Given the description of an element on the screen output the (x, y) to click on. 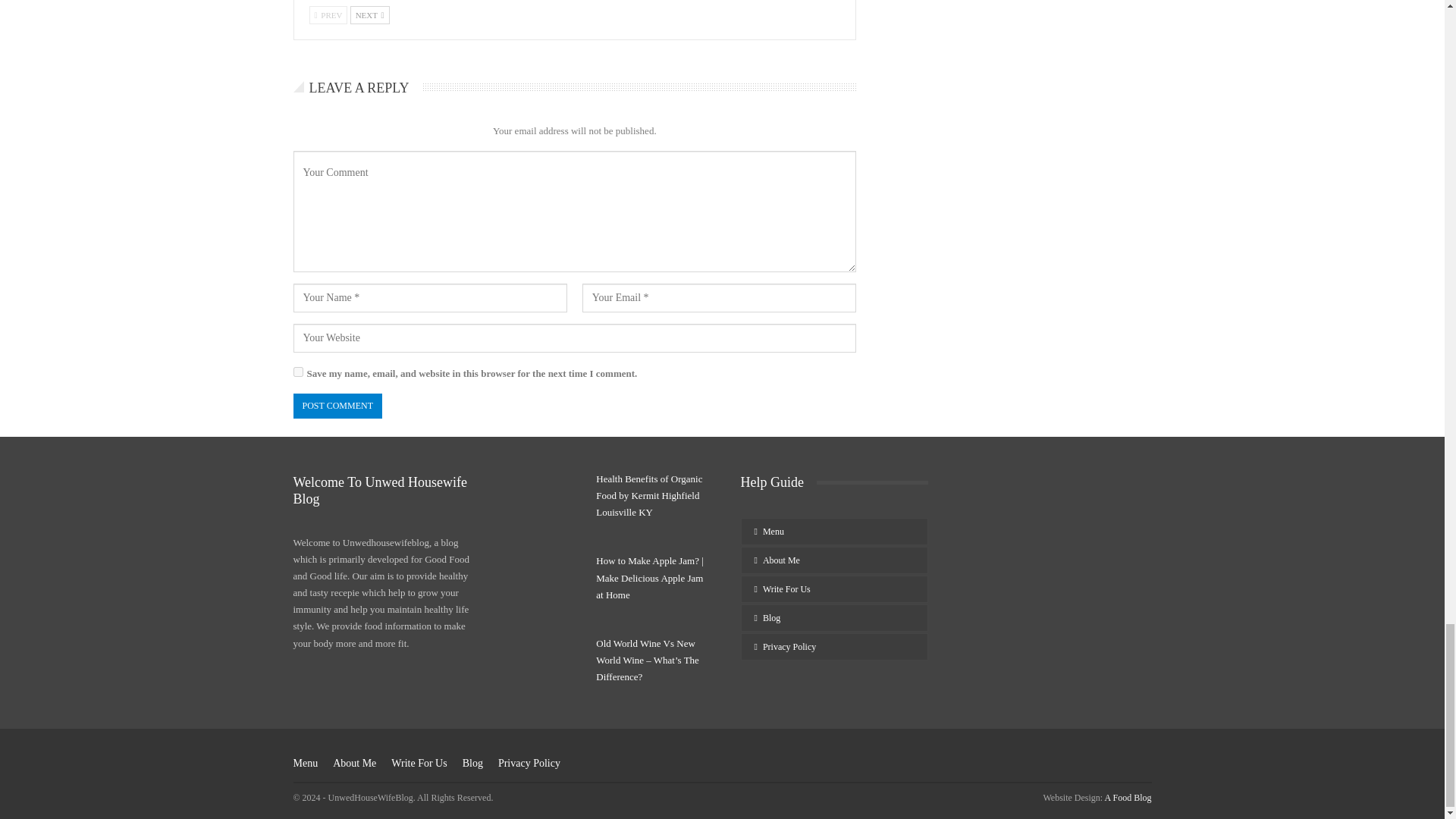
Post Comment (336, 405)
Next (370, 14)
Previous (327, 14)
yes (297, 371)
